Given the description of an element on the screen output the (x, y) to click on. 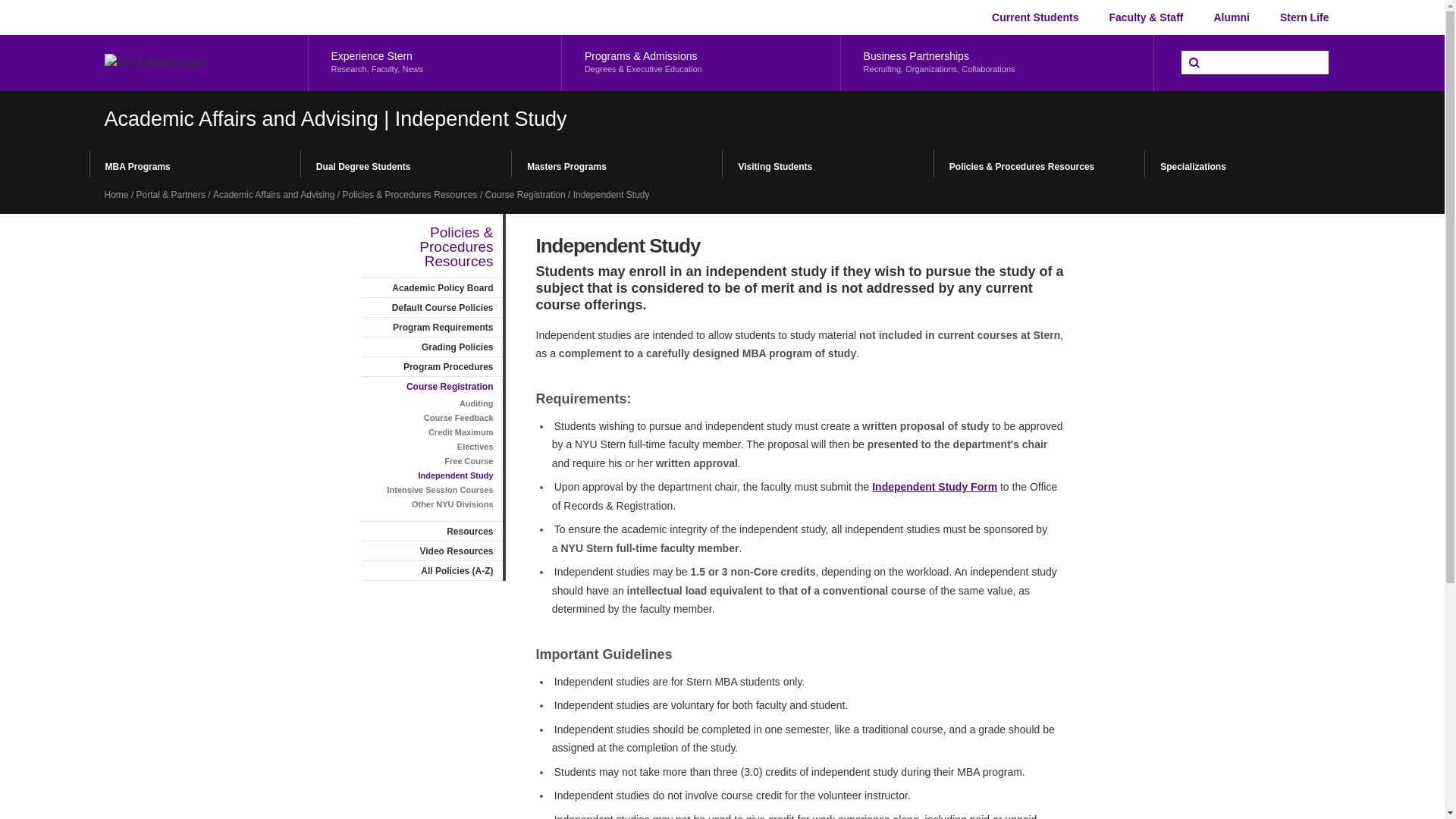
Stern Life (433, 62)
Alumni (1304, 17)
Current Students (1230, 17)
